Given the description of an element on the screen output the (x, y) to click on. 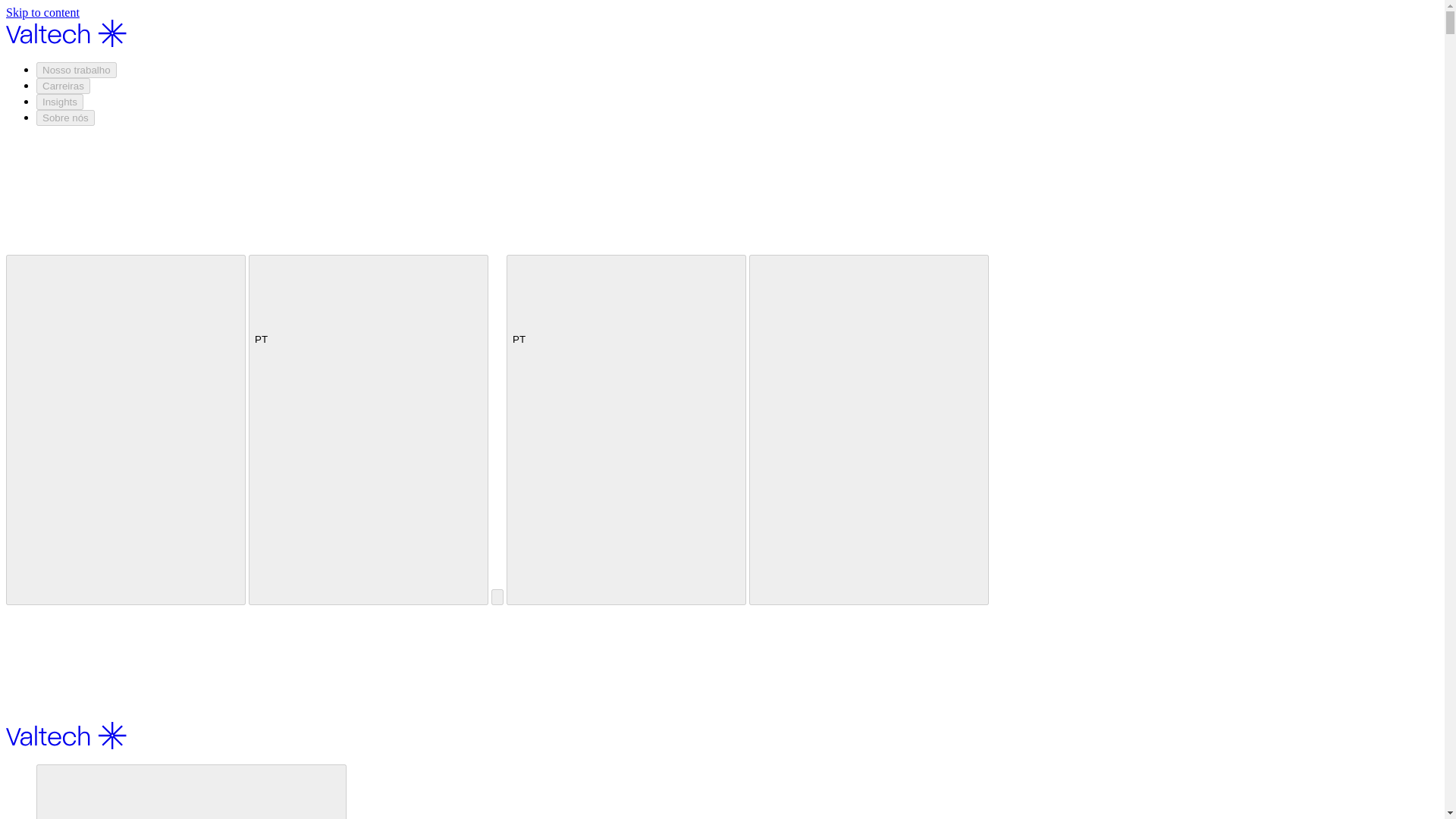
Nosso trabalho (76, 69)
Carreiras (63, 85)
PT (367, 429)
PT (625, 429)
Nosso trabalho (191, 791)
Insights (59, 101)
PT (625, 314)
Skip to content (42, 11)
PT (367, 314)
